Given the description of an element on the screen output the (x, y) to click on. 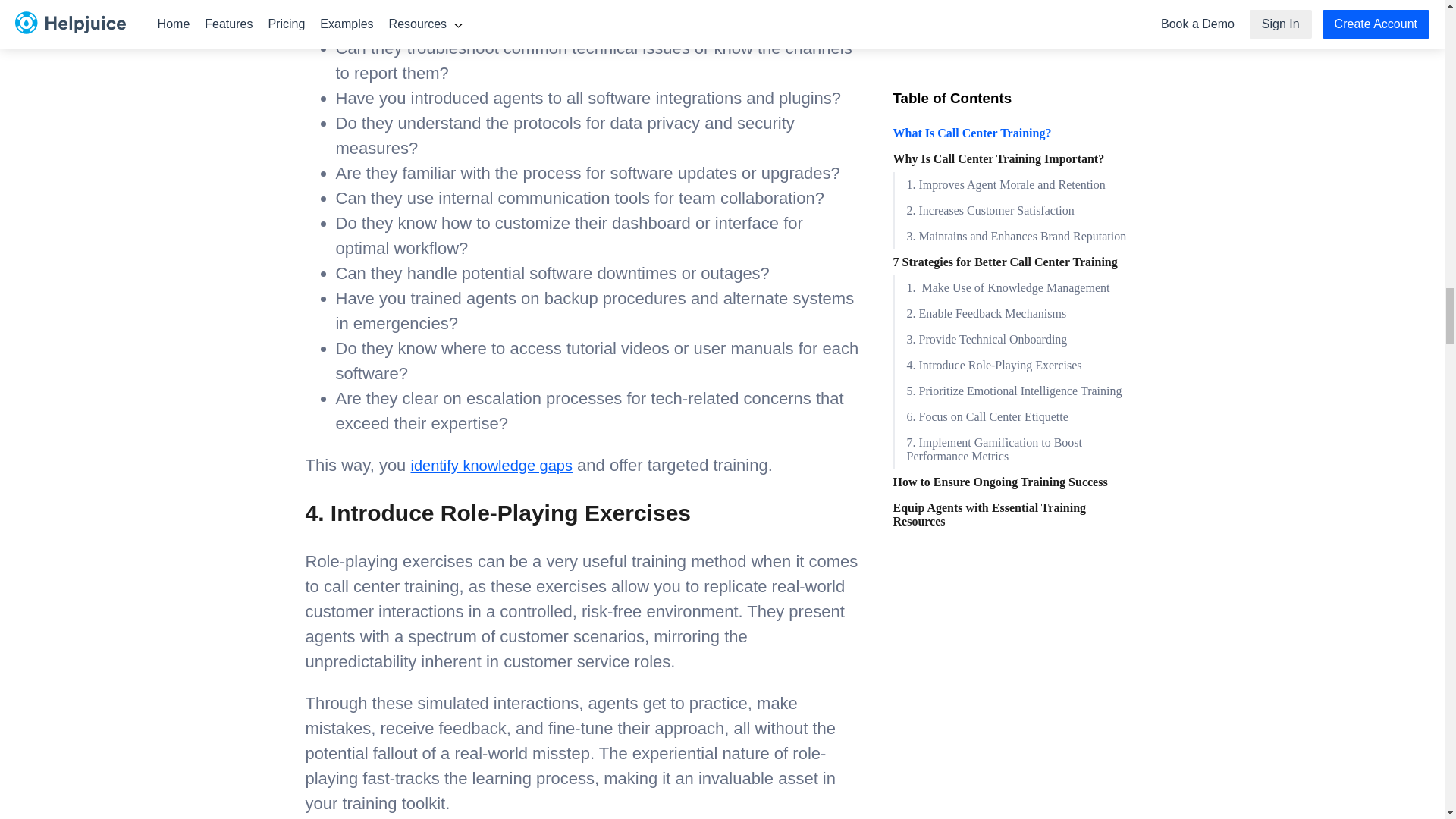
identify knowledge gaps (491, 465)
